Given the description of an element on the screen output the (x, y) to click on. 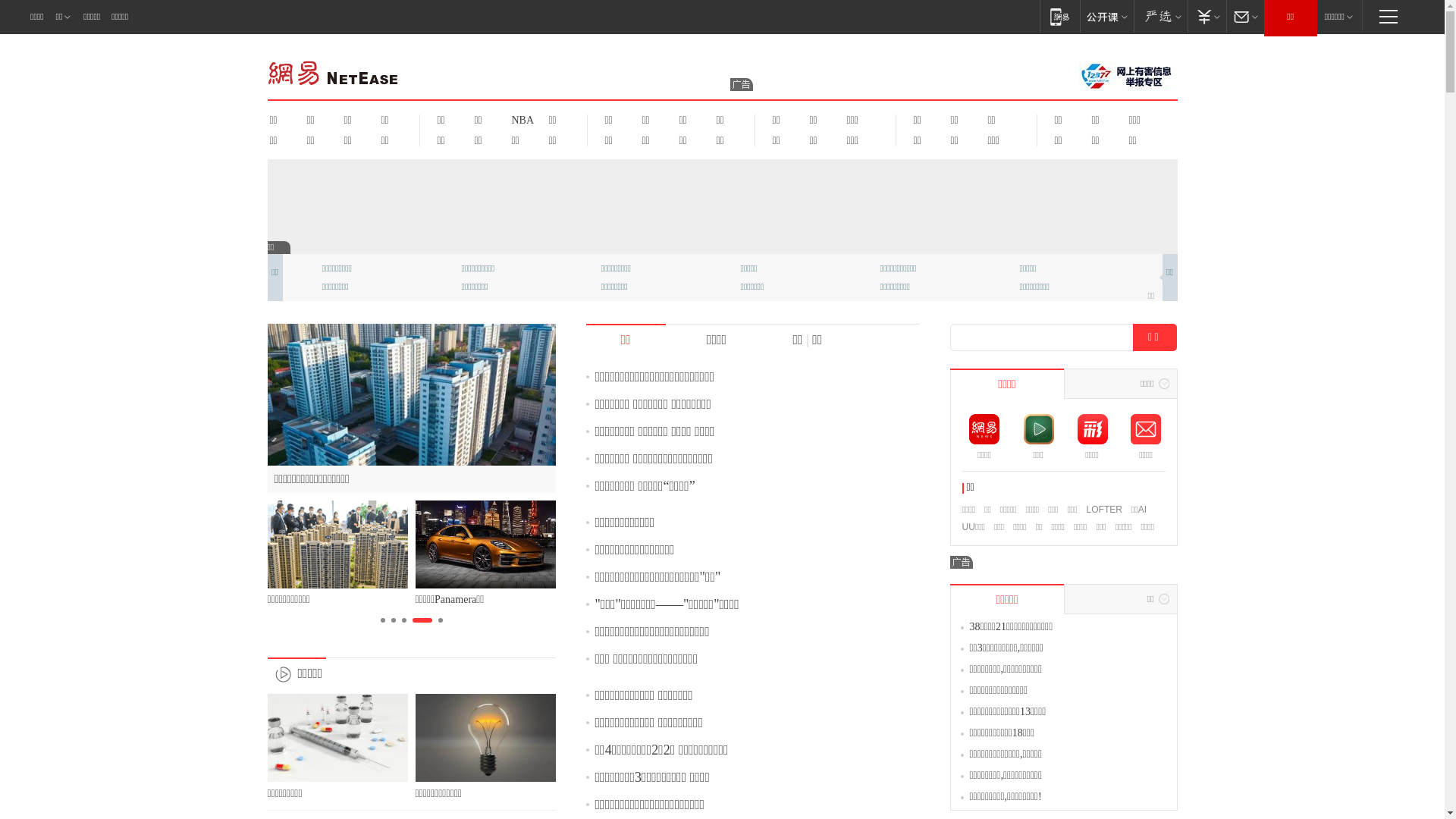
LOFTER Element type: text (1104, 509)
NBA Element type: text (520, 119)
